Given the description of an element on the screen output the (x, y) to click on. 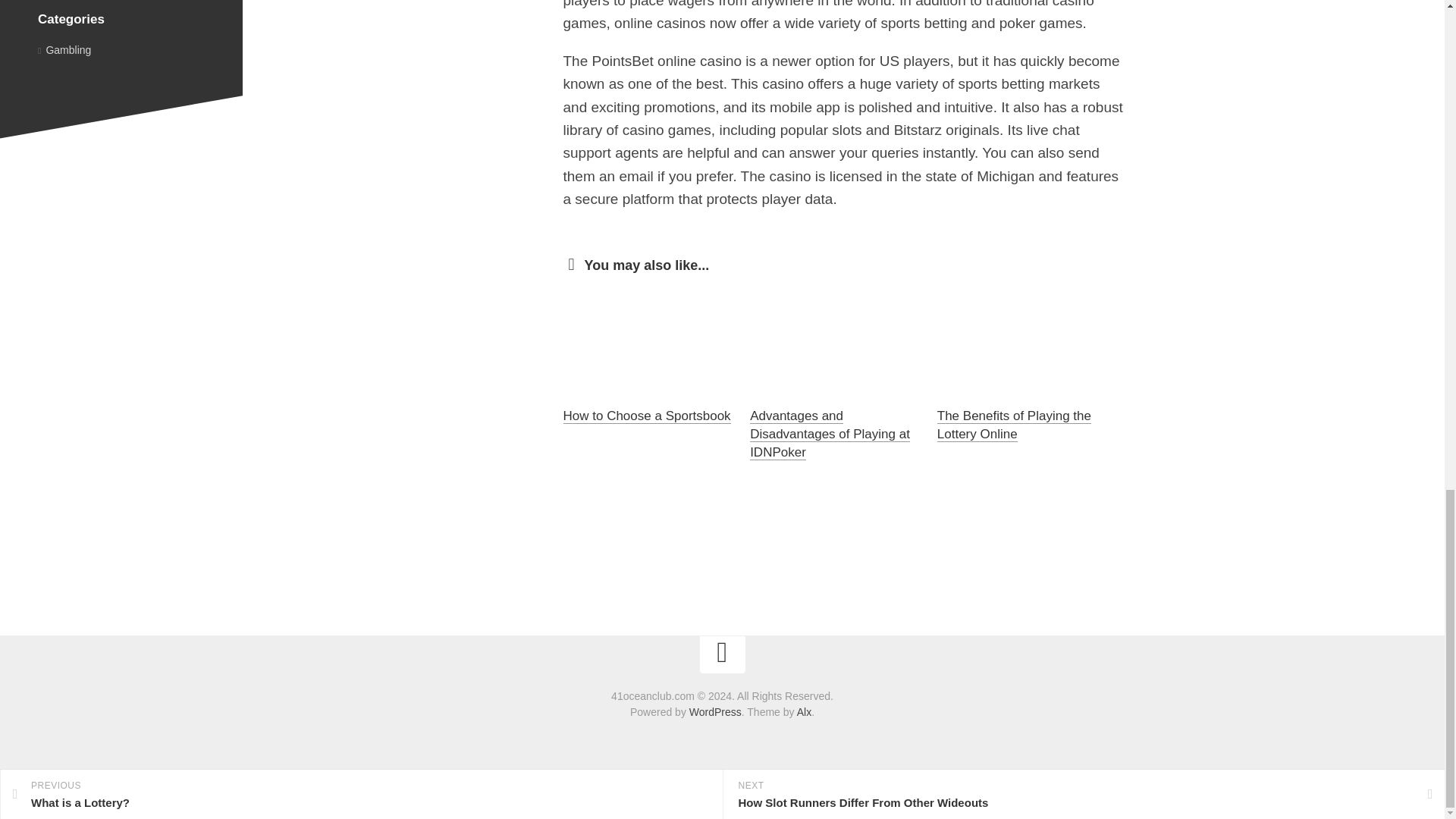
The Benefits of Playing the Lottery Online (1013, 424)
How to Choose a Sportsbook (646, 415)
Advantages and Disadvantages of Playing at IDNPoker (829, 433)
